Given the description of an element on the screen output the (x, y) to click on. 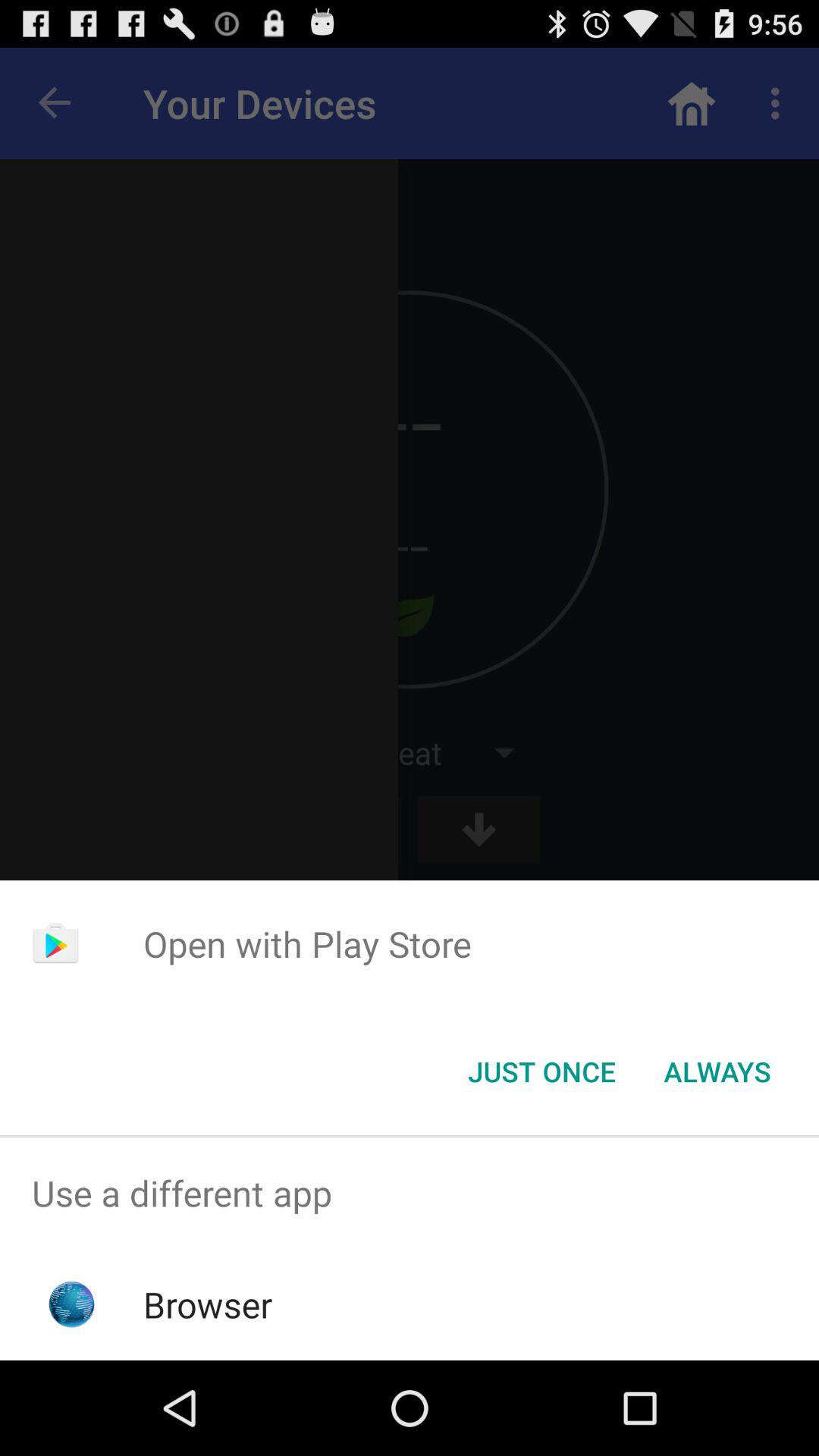
choose app below the open with play item (717, 1071)
